Given the description of an element on the screen output the (x, y) to click on. 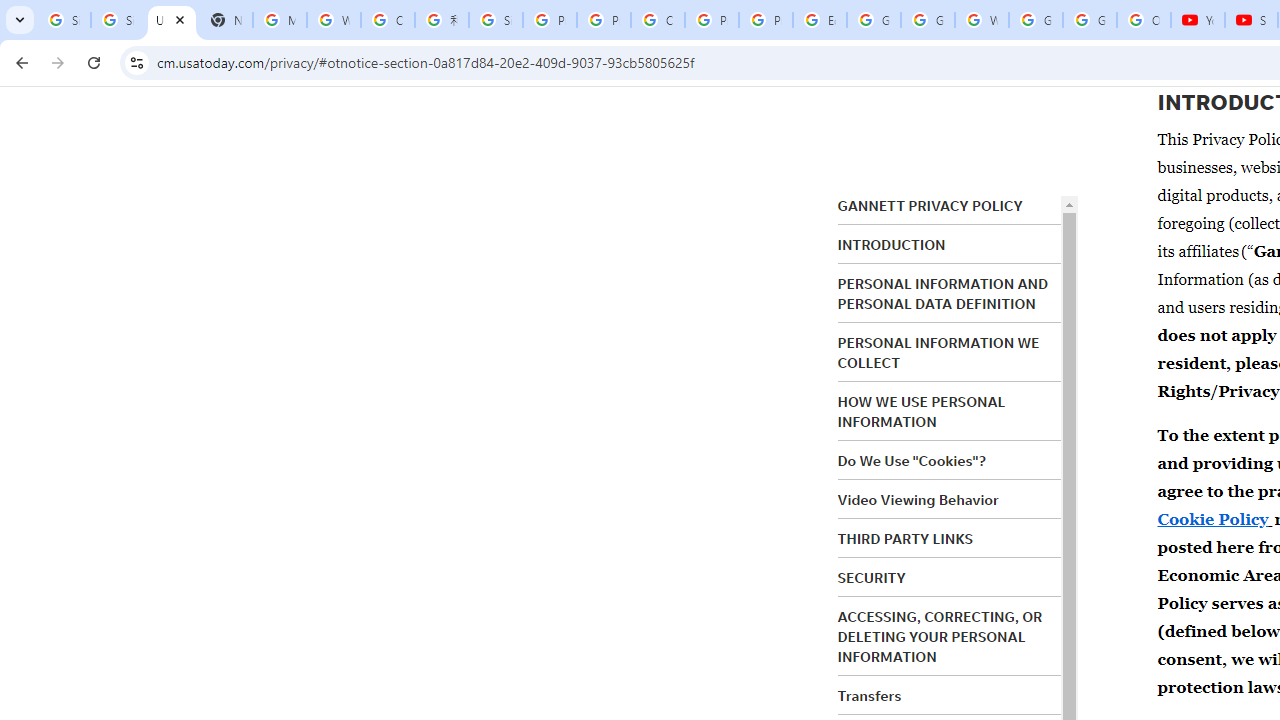
SECURITY (871, 577)
Google Slides: Sign-in (874, 20)
Reload (93, 62)
PERSONAL INFORMATION AND PERSONAL DATA DEFINITION (943, 294)
Video Viewing Behavior (917, 500)
View site information (136, 62)
GANNETT PRIVACY POLICY (929, 206)
New Tab (225, 20)
Sign in - Google Accounts (63, 20)
Create your Google Account (387, 20)
